Given the description of an element on the screen output the (x, y) to click on. 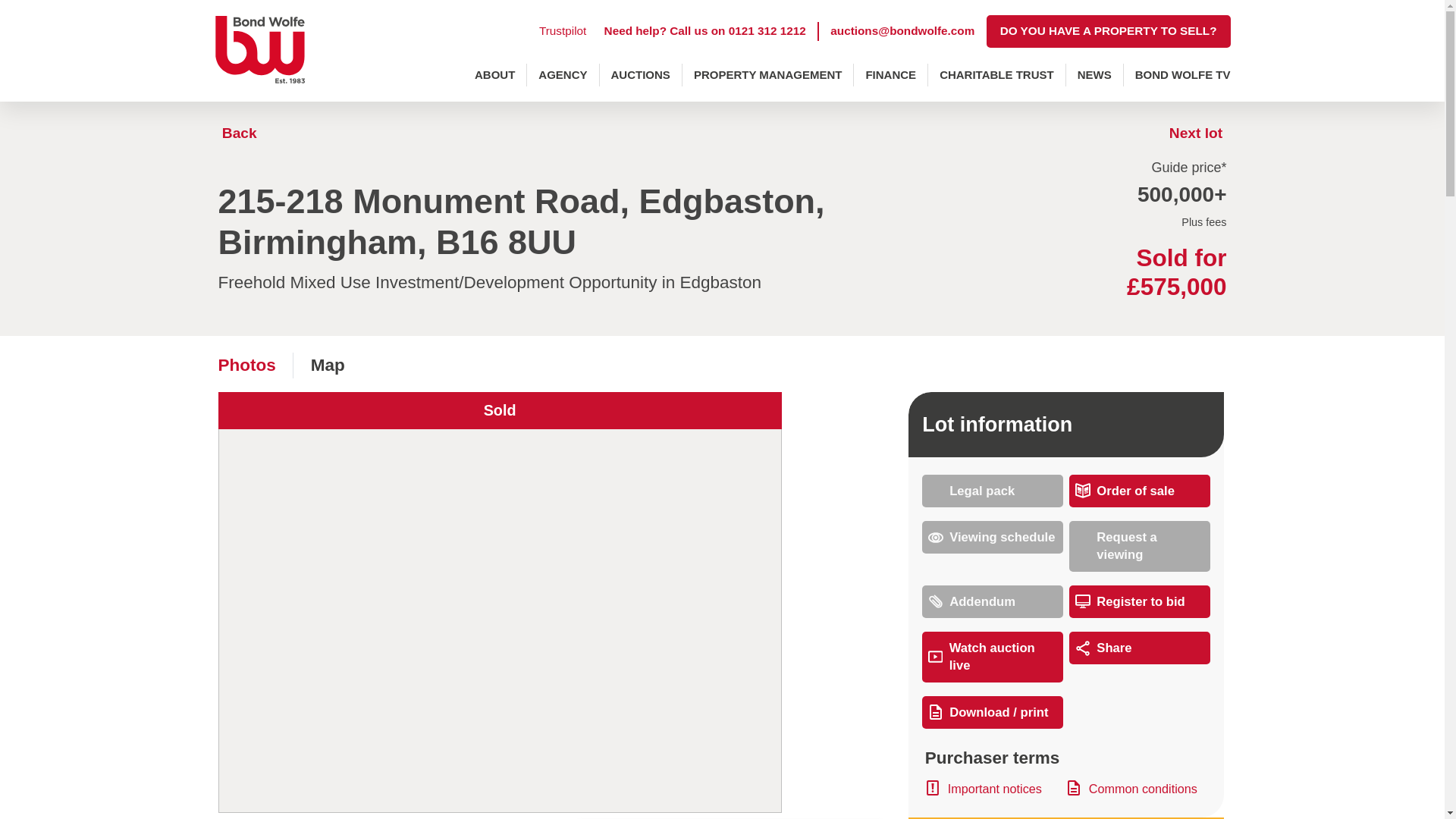
0121 312 1212 (767, 30)
DO YOU HAVE A PROPERTY TO SELL? (1108, 31)
AGENCY (562, 74)
ABOUT (494, 74)
AUCTIONS (640, 74)
Trustpilot (562, 30)
